Given the description of an element on the screen output the (x, y) to click on. 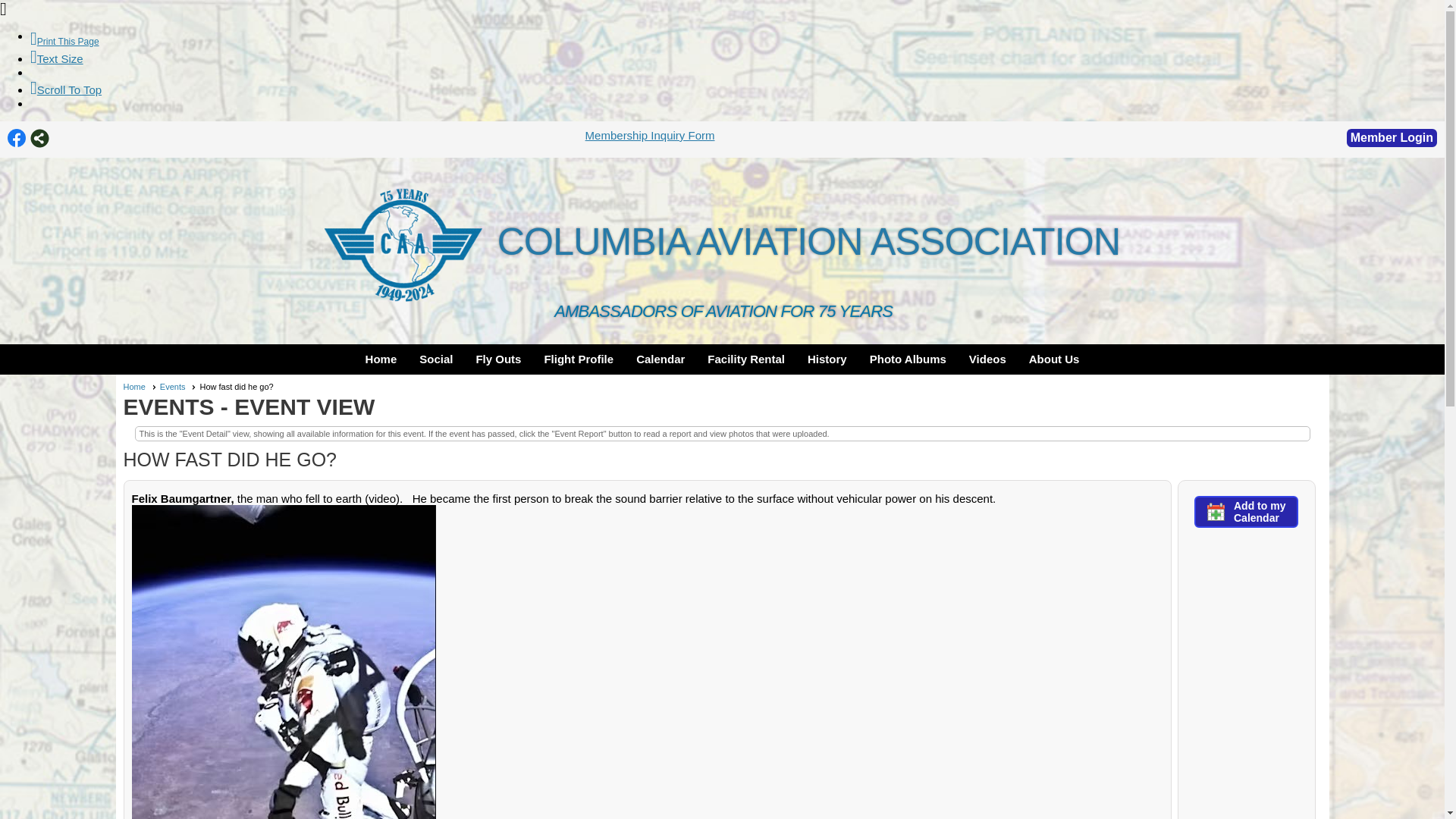
Photo Albums (907, 358)
Text Size (56, 58)
COLUMBIA AVIATION ASSOCIATION (721, 241)
Member Login (1391, 137)
Calendar (660, 358)
Events (178, 386)
Flight Profile (578, 358)
Home (138, 386)
Add to my Calendar (1245, 511)
Print (64, 41)
